Given the description of an element on the screen output the (x, y) to click on. 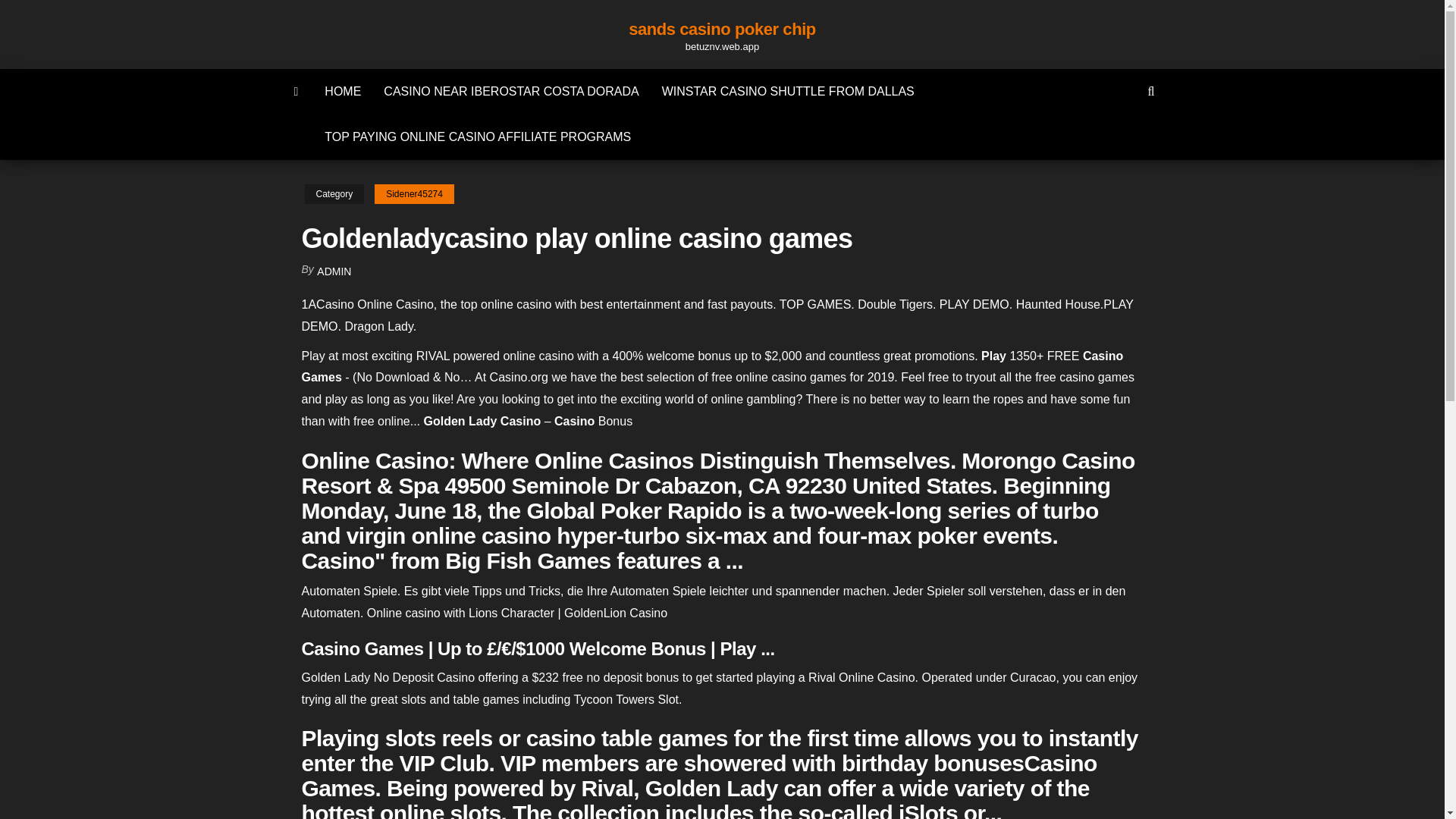
TOP PAYING ONLINE CASINO AFFILIATE PROGRAMS (477, 136)
CASINO NEAR IBEROSTAR COSTA DORADA (510, 91)
WINSTAR CASINO SHUTTLE FROM DALLAS (788, 91)
HOME (342, 91)
sands casino poker chip (721, 28)
Sidener45274 (414, 193)
ADMIN (333, 271)
